Given the description of an element on the screen output the (x, y) to click on. 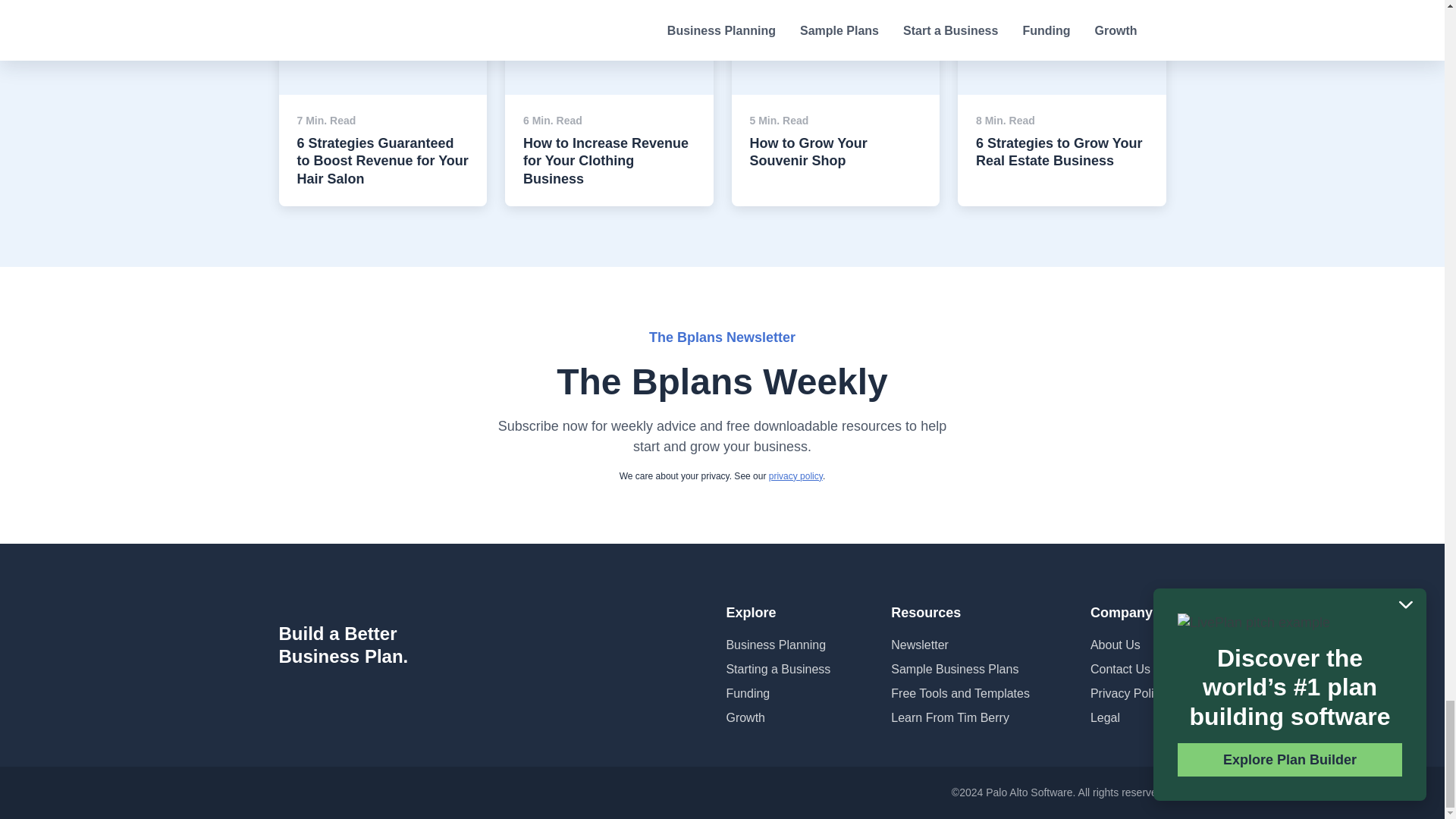
6 strategies to grow your real estate business (1062, 22)
How to increase revenue for your clothing business (609, 22)
How to grow your souvenir shop (833, 13)
How to increase hair salon revenue (383, 22)
